Given the description of an element on the screen output the (x, y) to click on. 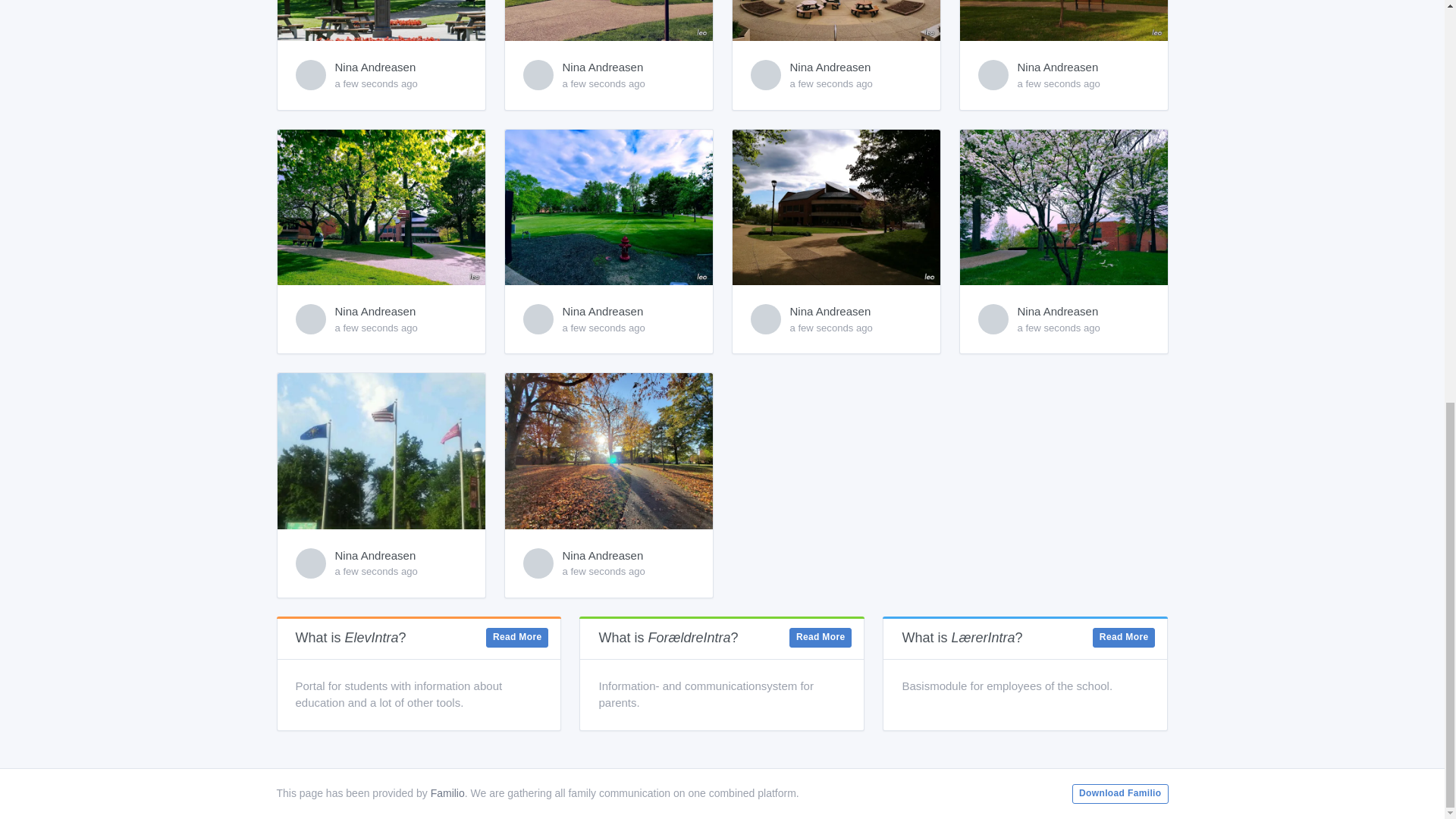
Download Familio (1119, 793)
Familio (447, 793)
Read More (1124, 637)
Read More (820, 637)
Read More (517, 637)
